Given the description of an element on the screen output the (x, y) to click on. 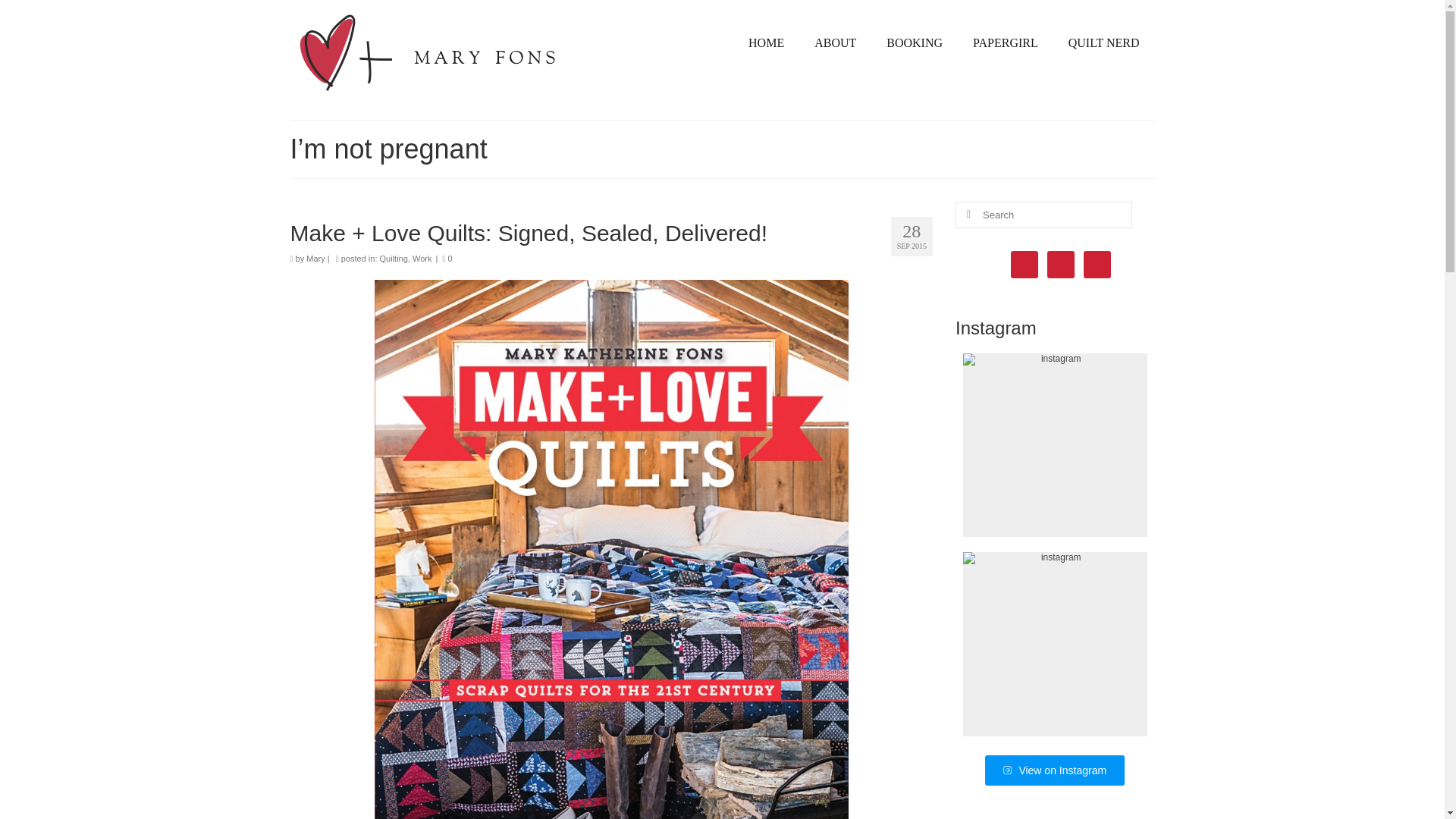
Work (421, 257)
0 (446, 257)
PAPERGIRL (1005, 42)
Quilting (393, 257)
Mary Fons (428, 53)
QUILT NERD (1103, 42)
BOOKING (914, 42)
Mary (314, 257)
ABOUT (834, 42)
HOME (766, 42)
